Given the description of an element on the screen output the (x, y) to click on. 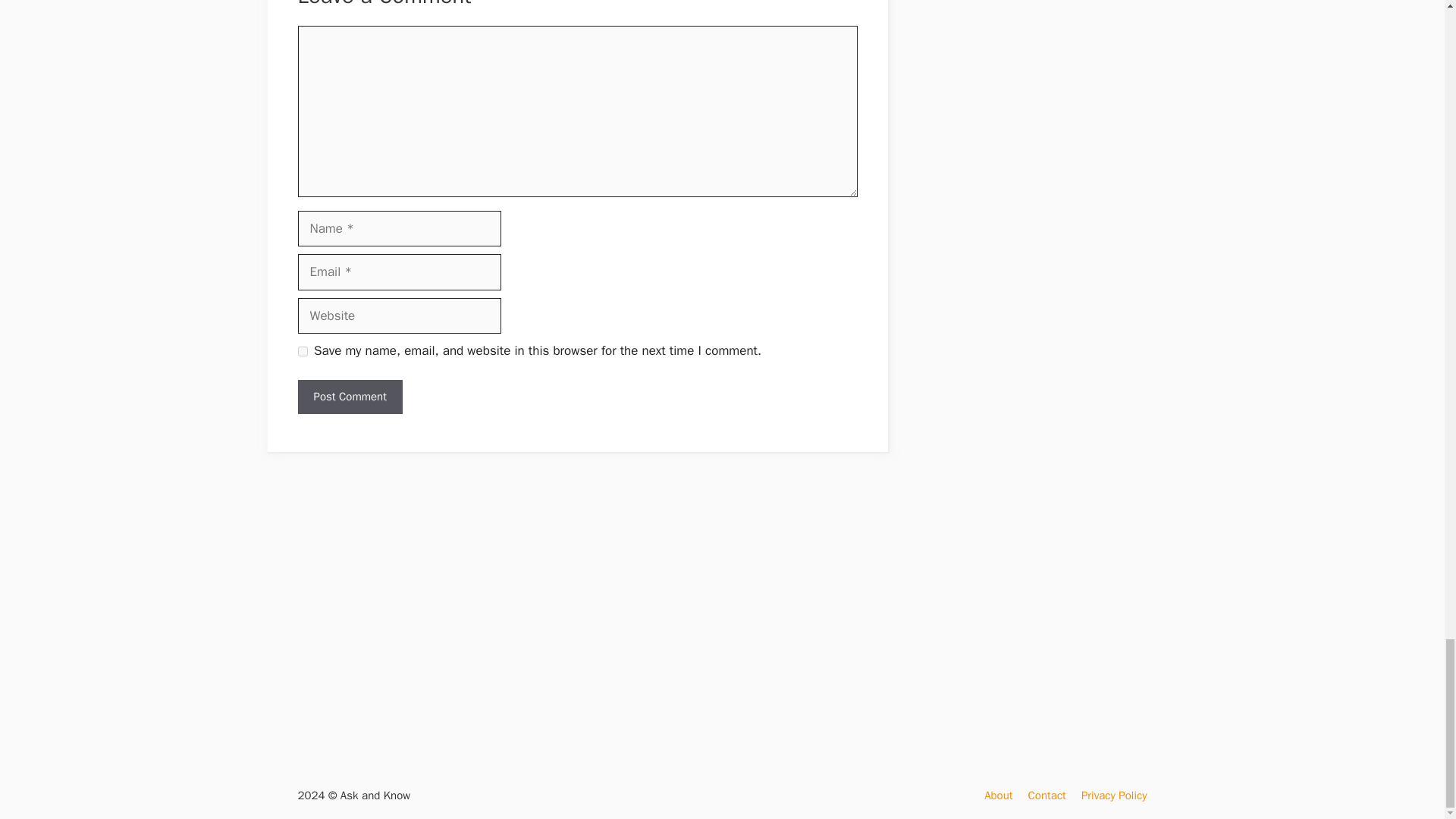
Post Comment (349, 397)
Post Comment (349, 397)
Contact (1046, 795)
About (997, 795)
yes (302, 351)
Privacy Policy (1114, 795)
